Given the description of an element on the screen output the (x, y) to click on. 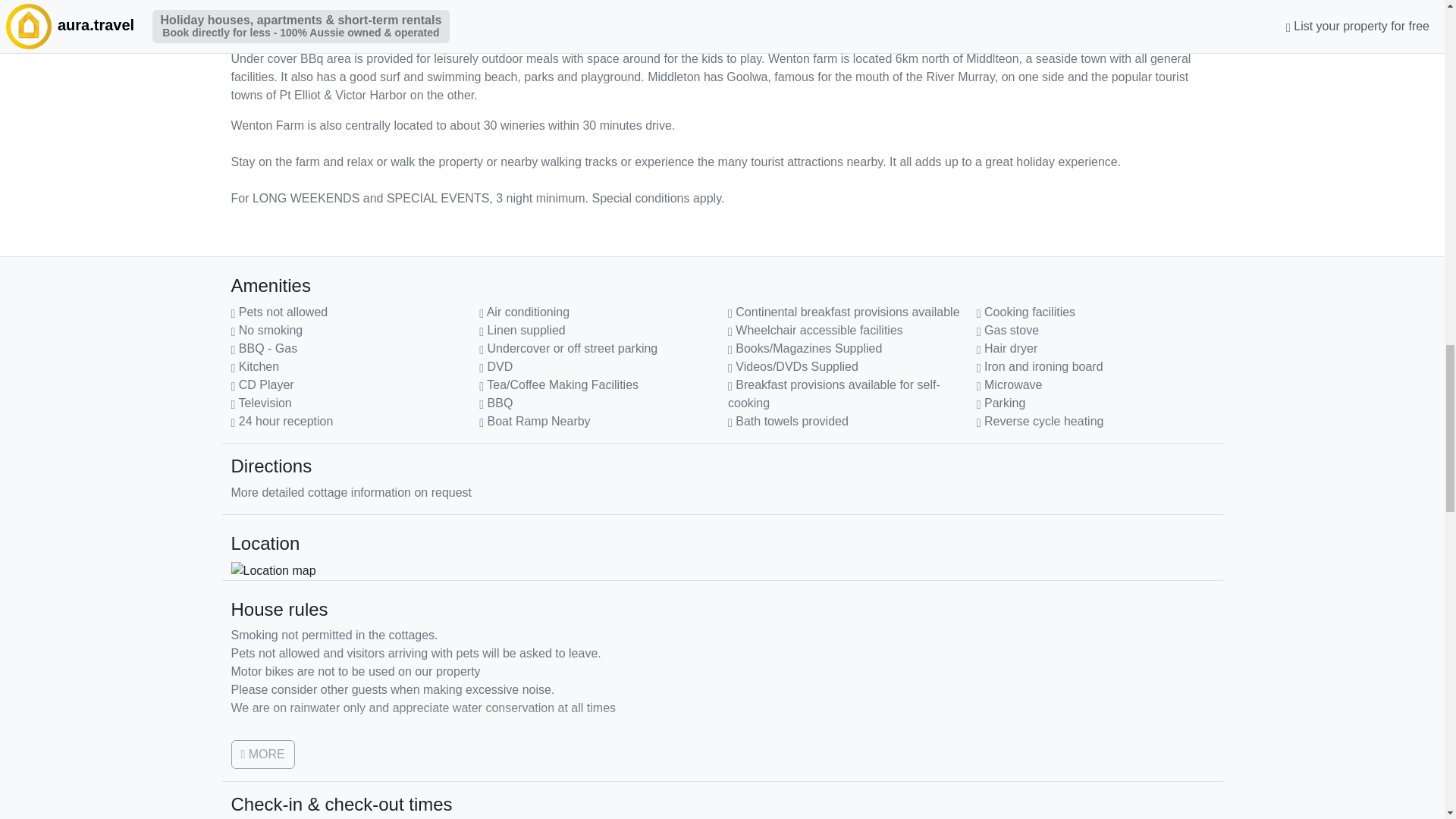
MORE (262, 754)
